Given the description of an element on the screen output the (x, y) to click on. 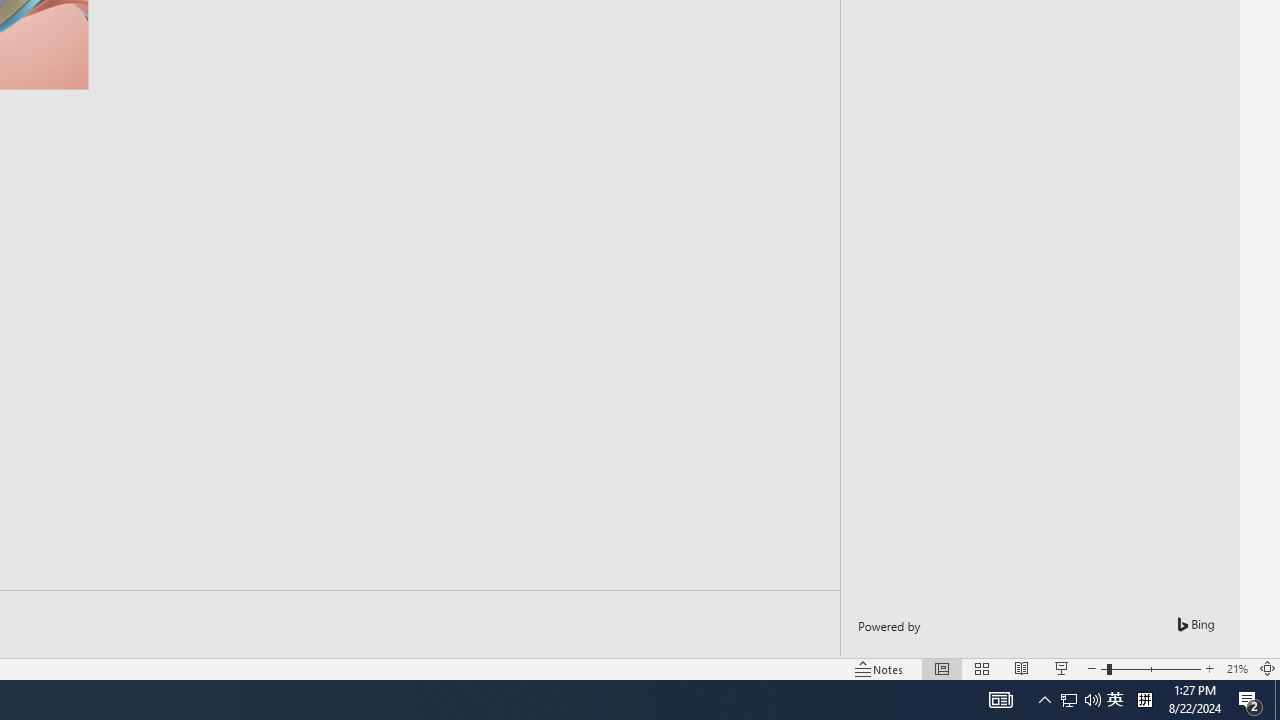
Zoom 21% (1236, 668)
